Given the description of an element on the screen output the (x, y) to click on. 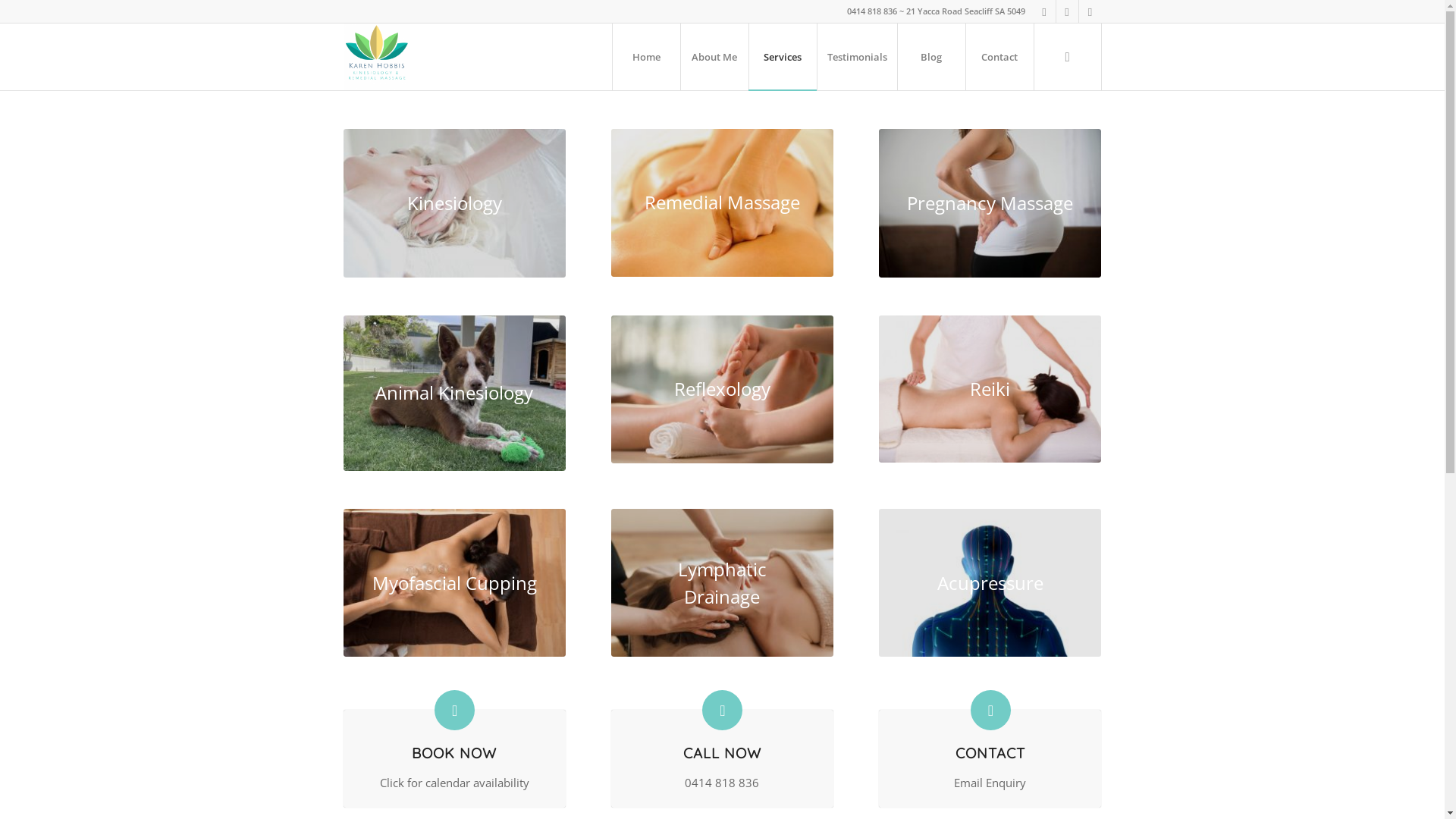
Contact Element type: text (998, 56)
Testimonials Element type: text (855, 56)
Remedial Massage Element type: text (722, 202)
IMG_4602 Element type: hover (453, 392)
pexels-arina-krasnikova-6663361 Element type: hover (722, 582)
Pregnancy backache Element type: hover (989, 202)
Contact Element type: hover (990, 710)
Facebook Element type: hover (1043, 11)
Lymphatic Drainage Element type: text (722, 582)
Woman At Spa Receiving Cupping Therapy Element type: hover (453, 582)
Services Element type: text (781, 56)
head-650878_1920 Element type: hover (453, 202)
Medical acupuncture model of human on white background Element type: hover (989, 582)
Kinesiology Element type: text (453, 202)
CONTACT Element type: text (990, 752)
Mail Element type: hover (1089, 11)
About Me Element type: text (713, 56)
Foot massage Element type: hover (722, 389)
Book Now Element type: hover (454, 710)
BOOK NOW Element type: text (453, 752)
Reiki Element type: text (989, 389)
Pregnancy Massage Element type: text (989, 202)
Massage Therapy Element type: hover (722, 202)
Home Element type: text (645, 56)
Reflexology Element type: text (722, 389)
reiki-photo Element type: hover (989, 389)
Acupressure Element type: text (989, 582)
Blog Element type: text (930, 56)
Animal Kinesiology Element type: text (453, 392)
Instagram Element type: hover (1066, 11)
Myofascial Cupping Element type: text (453, 582)
